Given the description of an element on the screen output the (x, y) to click on. 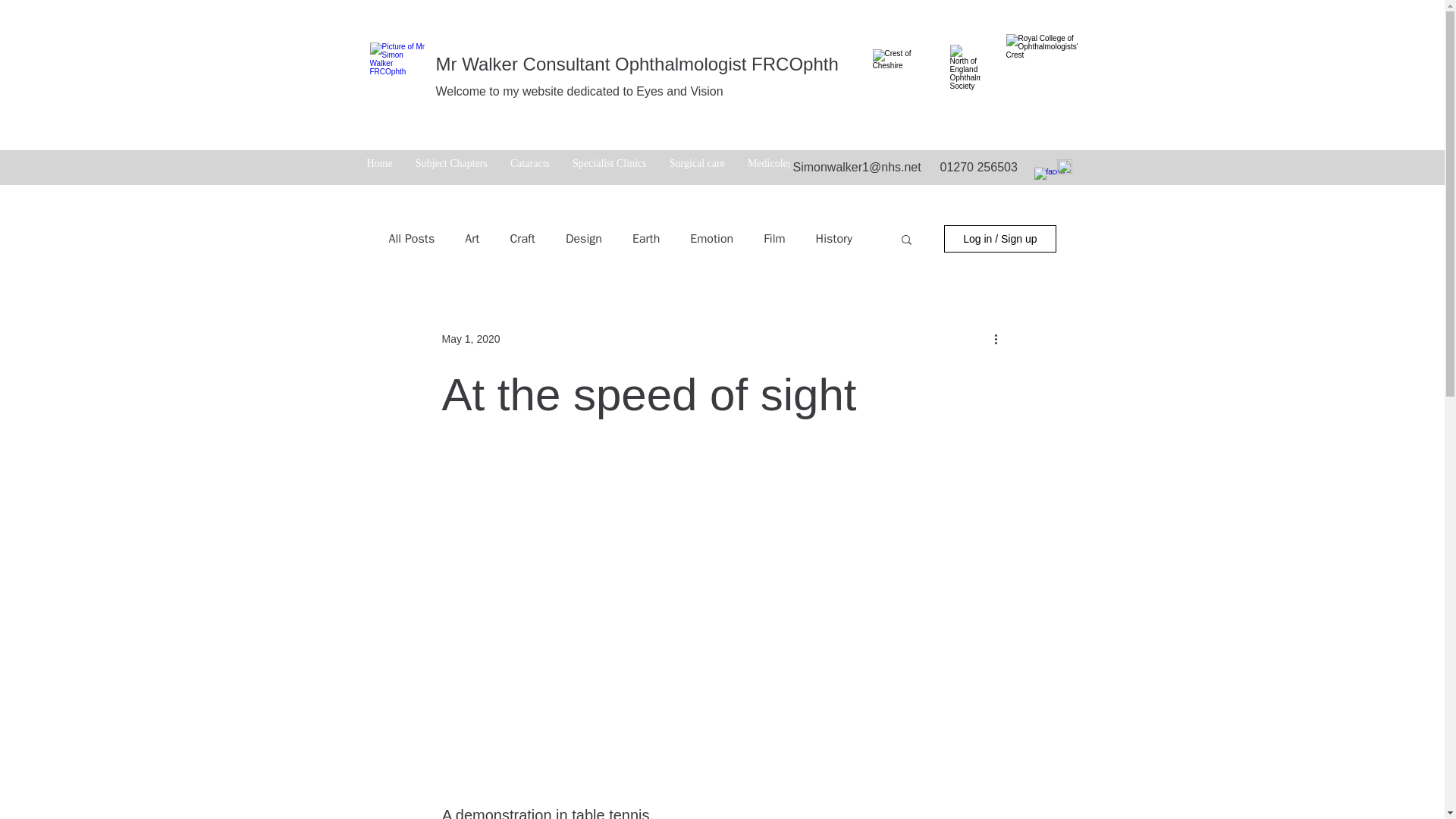
Surgical care (697, 167)
Specialist Clinics (609, 167)
Medicolegal reports (790, 167)
Royal College of Ophthalmologists' Crest (1042, 69)
North of England Ophthalmological Society (964, 72)
May 1, 2020 (470, 337)
Subject Chapters (451, 167)
Home (379, 167)
Crest of Cheshire (893, 73)
Cataracts (529, 167)
